Given the description of an element on the screen output the (x, y) to click on. 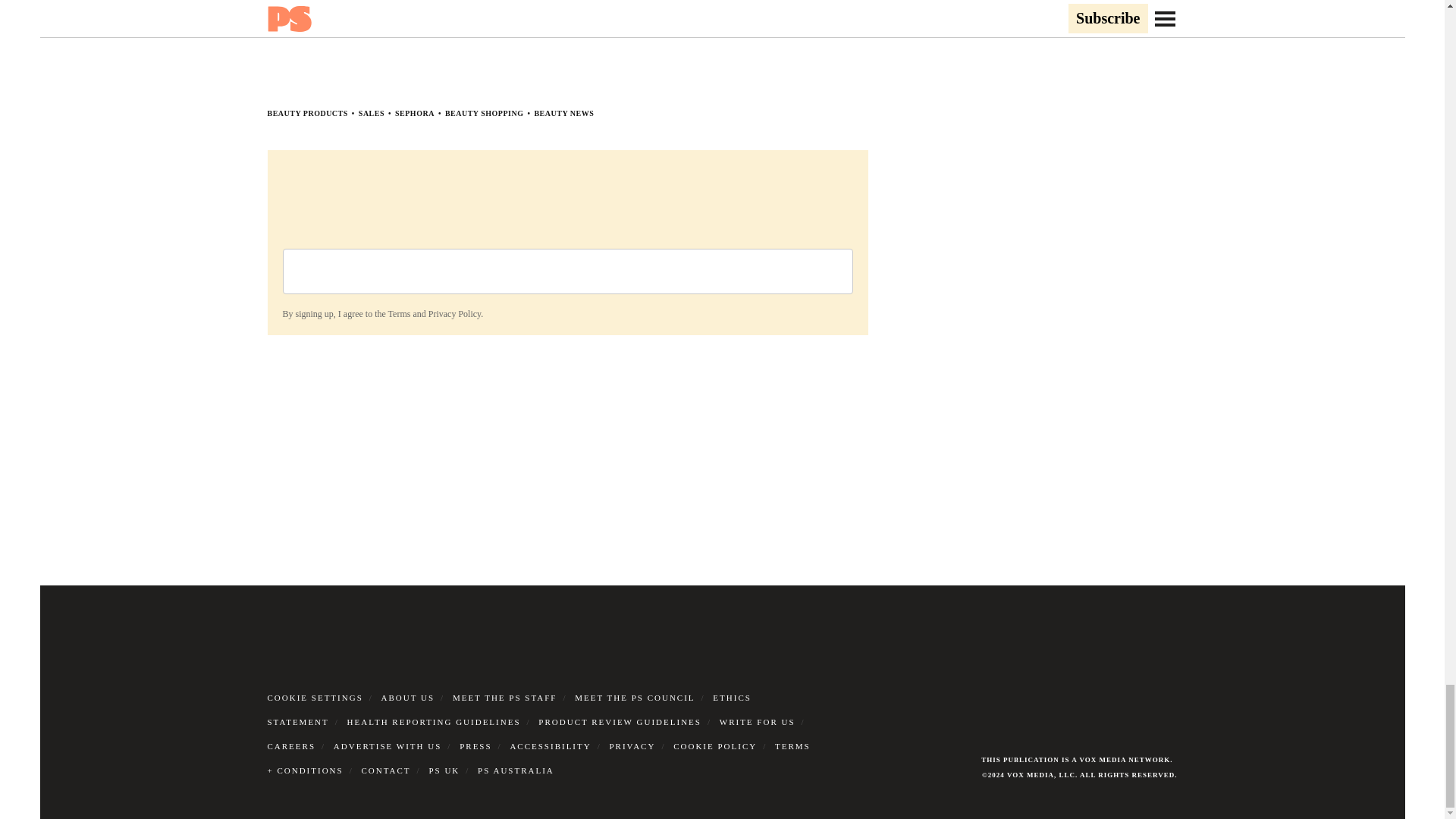
SEPHORA (413, 112)
Privacy Policy. (455, 313)
BEAUTY SHOPPING (484, 112)
BEAUTY NEWS (564, 112)
SALES (371, 112)
Terms (399, 313)
BEAUTY PRODUCTS (306, 112)
